Given the description of an element on the screen output the (x, y) to click on. 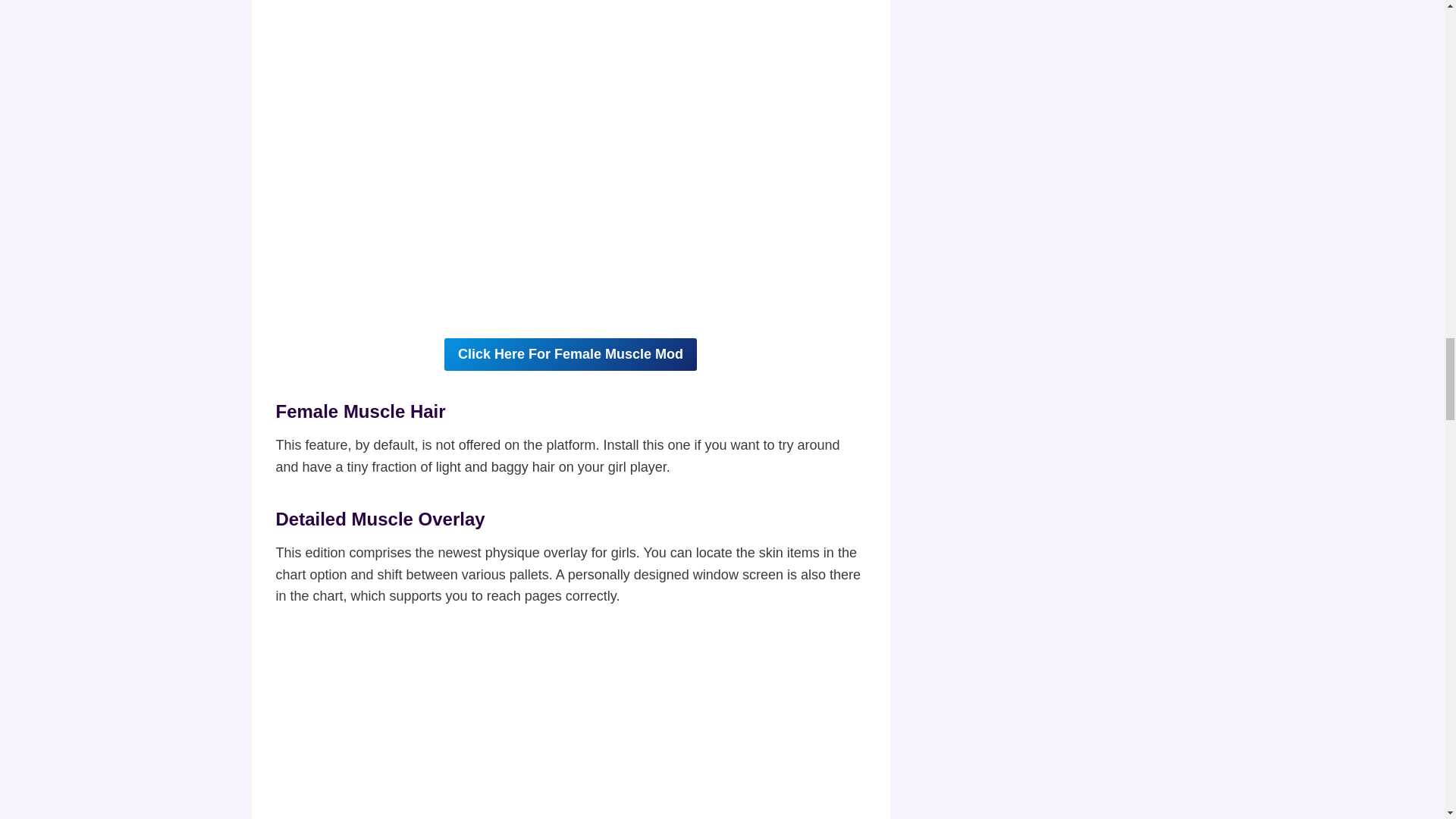
Click Here For Female Muscle Mod (570, 354)
